Given the description of an element on the screen output the (x, y) to click on. 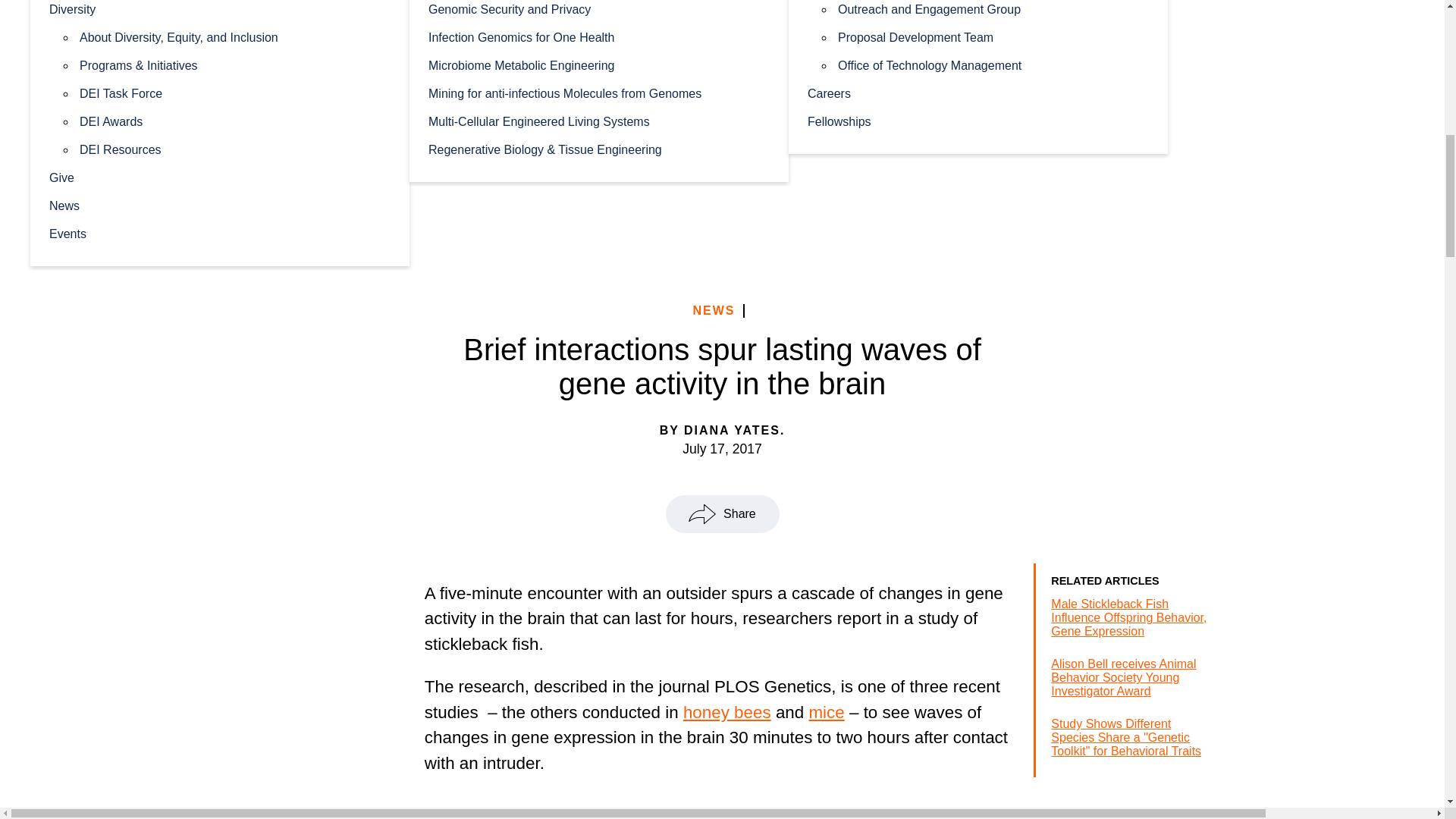
DEI Task Force (234, 92)
About Diversity, Equity, and Inclusion (234, 36)
Genomic Security and Privacy (599, 11)
Give (219, 176)
Events (219, 233)
News (219, 204)
About Diversity, Equity, and Inclusion (234, 36)
DEI Awards (234, 121)
DEI Task Force (234, 92)
Give (219, 176)
Microbiome Metabolic Engineering (599, 64)
Diversity (219, 11)
Multi-Cellular Engineered Living Systems (599, 121)
Diversity (219, 11)
DEI Awards (234, 121)
